Given the description of an element on the screen output the (x, y) to click on. 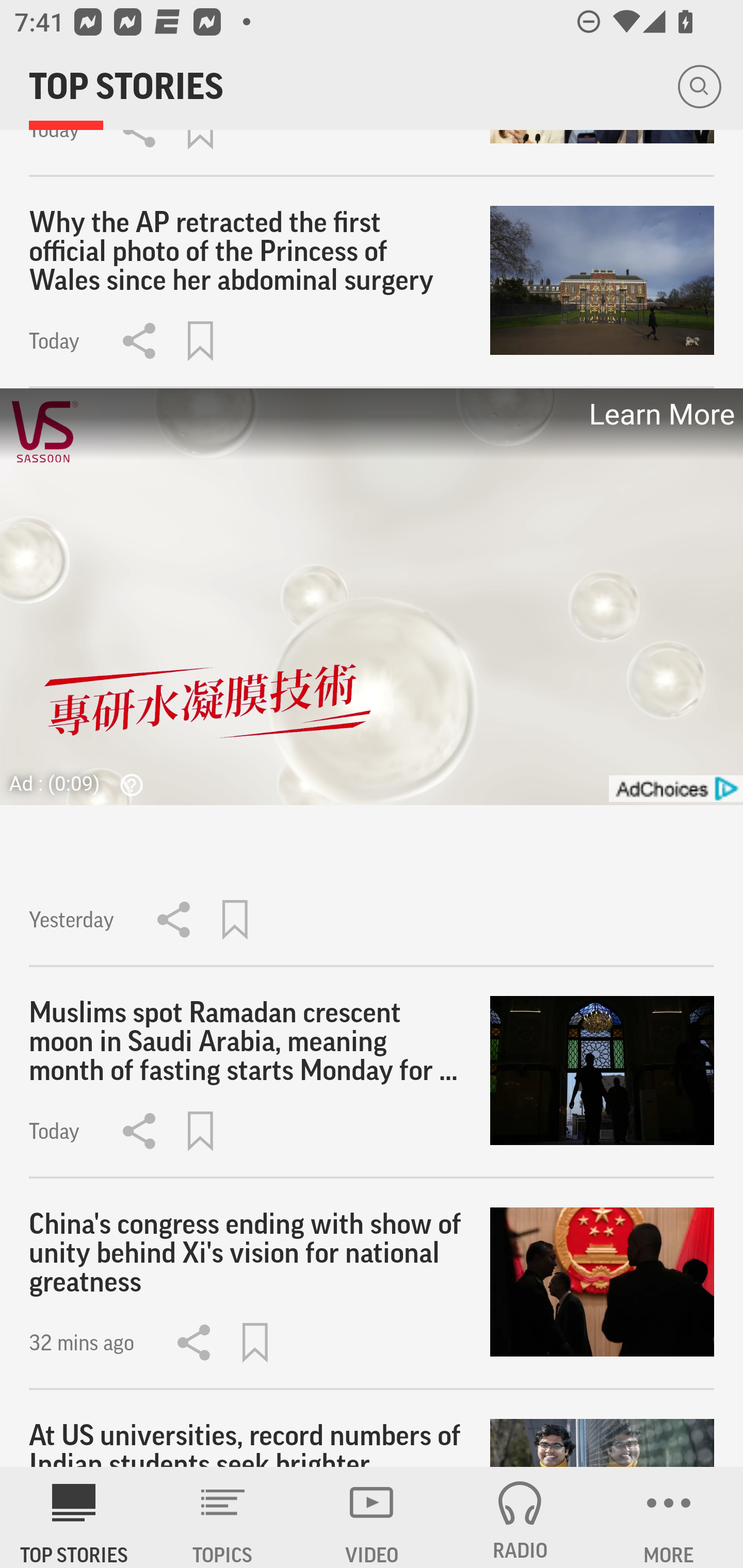
Learn More (660, 414)
Ad : (0:09) Why This Ad? (82, 782)
Why This Ad? (126, 784)
get?name=admarker-full-tl (675, 788)
AP News TOP STORIES (74, 1517)
TOPICS (222, 1517)
VIDEO (371, 1517)
RADIO (519, 1517)
MORE (668, 1517)
